Given the description of an element on the screen output the (x, y) to click on. 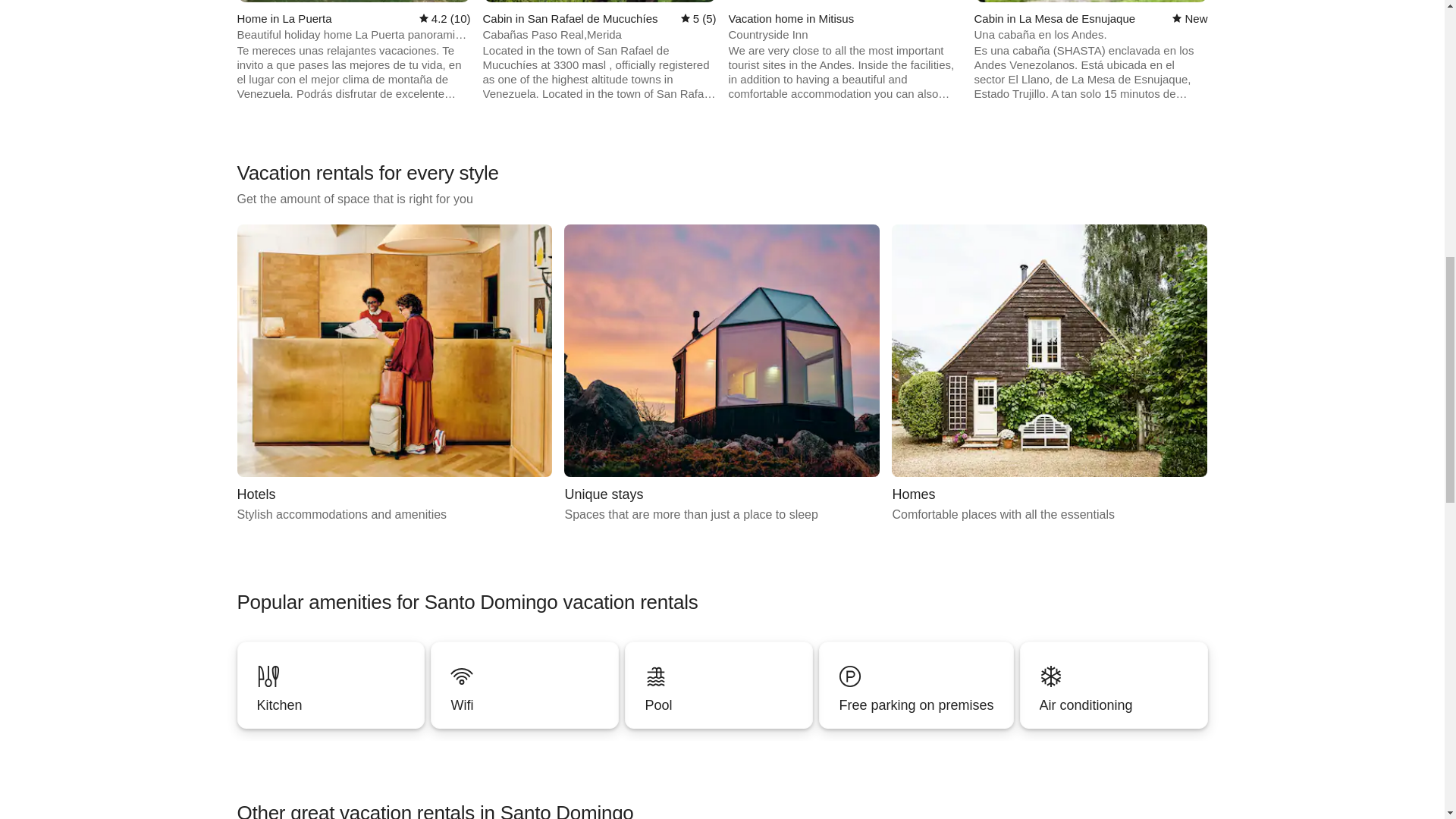
Free parking on premises (915, 704)
Wifi (524, 684)
Air conditioning (1114, 684)
Wifi (523, 704)
Kitchen (330, 684)
Pool (718, 684)
Kitchen (330, 684)
Pool (393, 374)
